Given the description of an element on the screen output the (x, y) to click on. 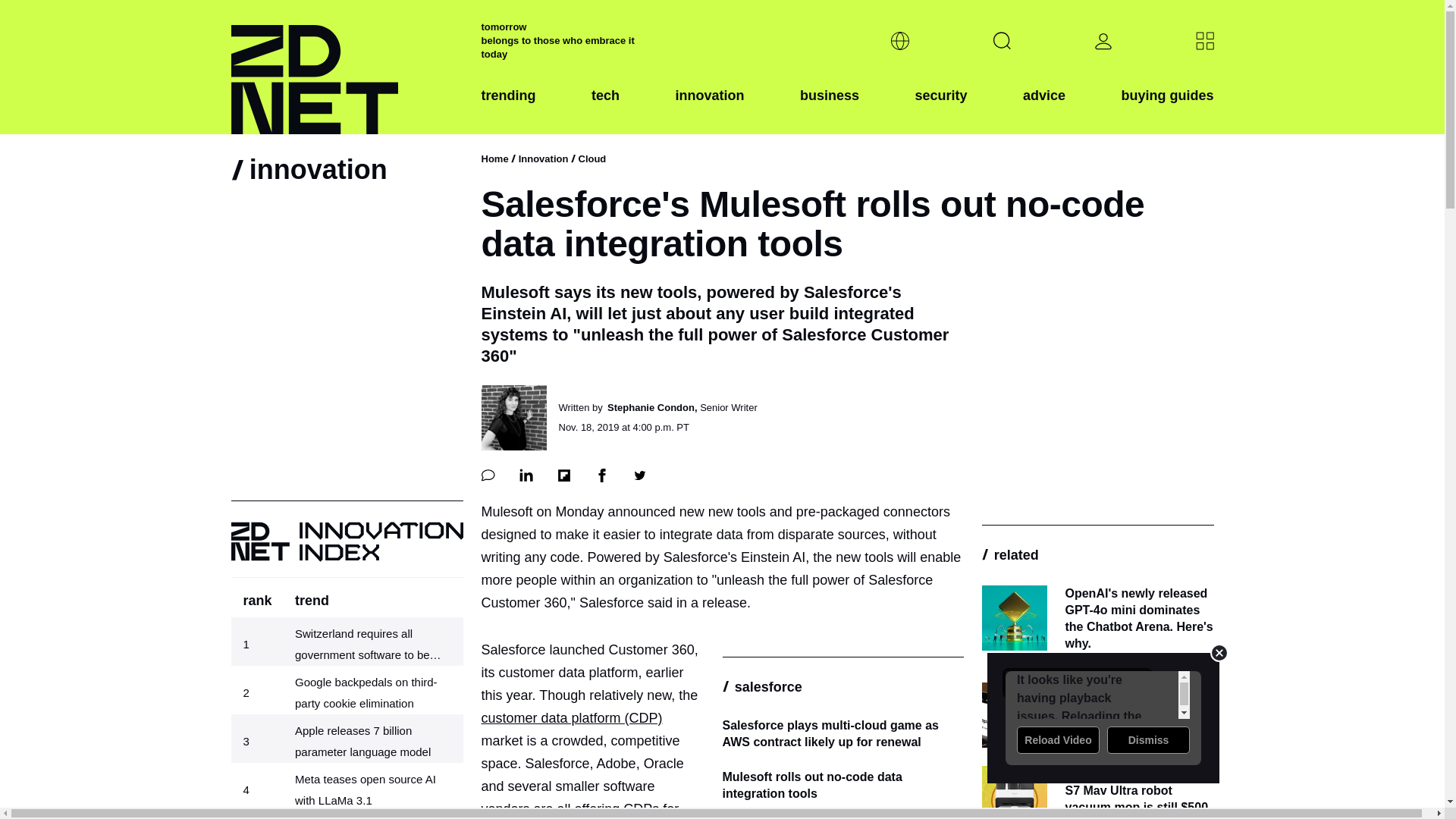
Advertisement (1103, 717)
ZDNET (346, 67)
trending (507, 107)
